Given the description of an element on the screen output the (x, y) to click on. 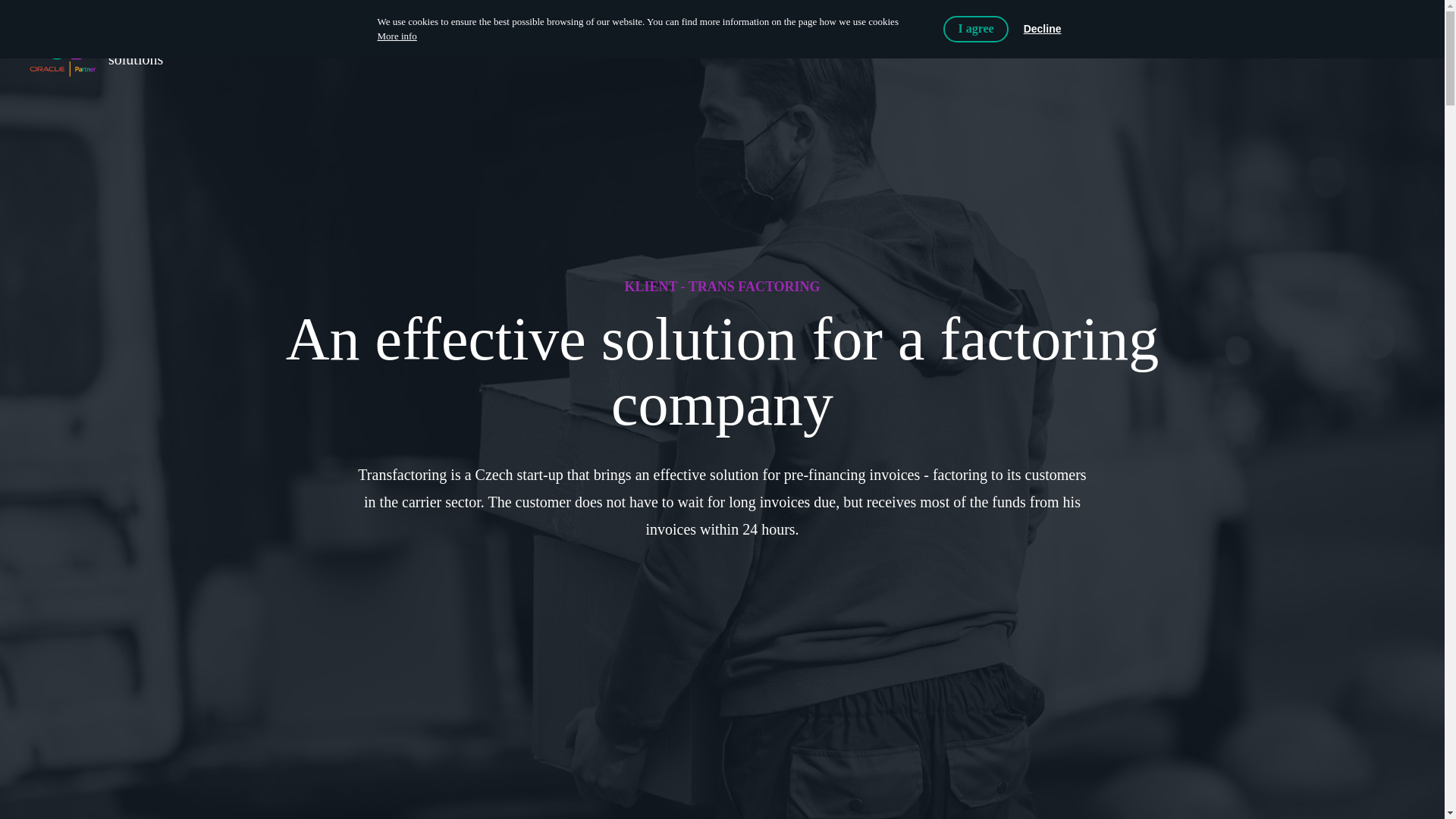
apex solutions s.r.o.  (93, 52)
Decline (1042, 28)
More info (93, 52)
I agree (396, 36)
